Given the description of an element on the screen output the (x, y) to click on. 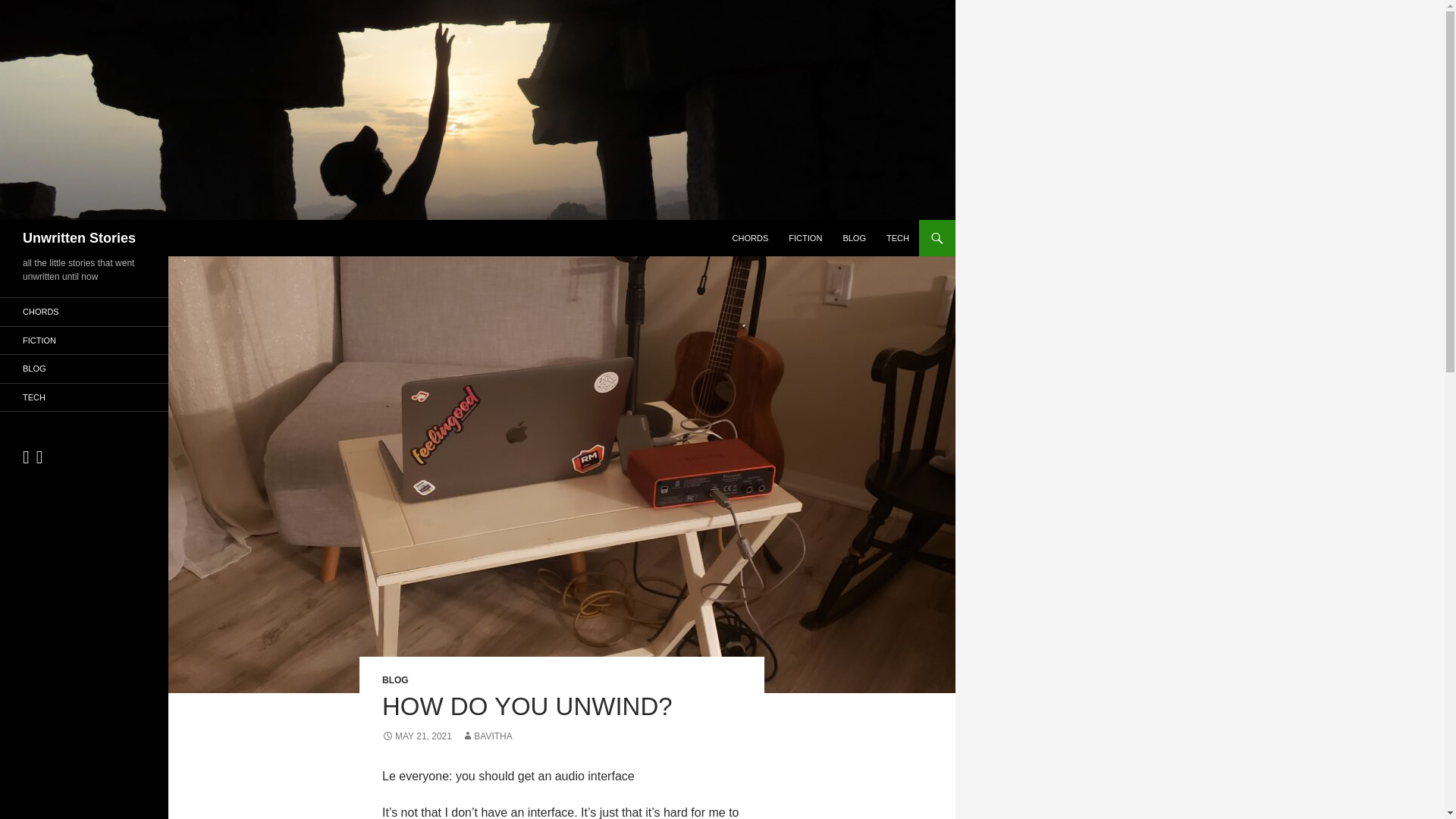
MAY 21, 2021 (416, 736)
CHORDS (84, 311)
BAVITHA (486, 736)
Unwritten Stories (79, 238)
BLOG (395, 679)
BLOG (84, 368)
BLOG (853, 238)
TECH (84, 397)
TECH (897, 238)
CHORDS (750, 238)
FICTION (804, 238)
FICTION (84, 339)
